Given the description of an element on the screen output the (x, y) to click on. 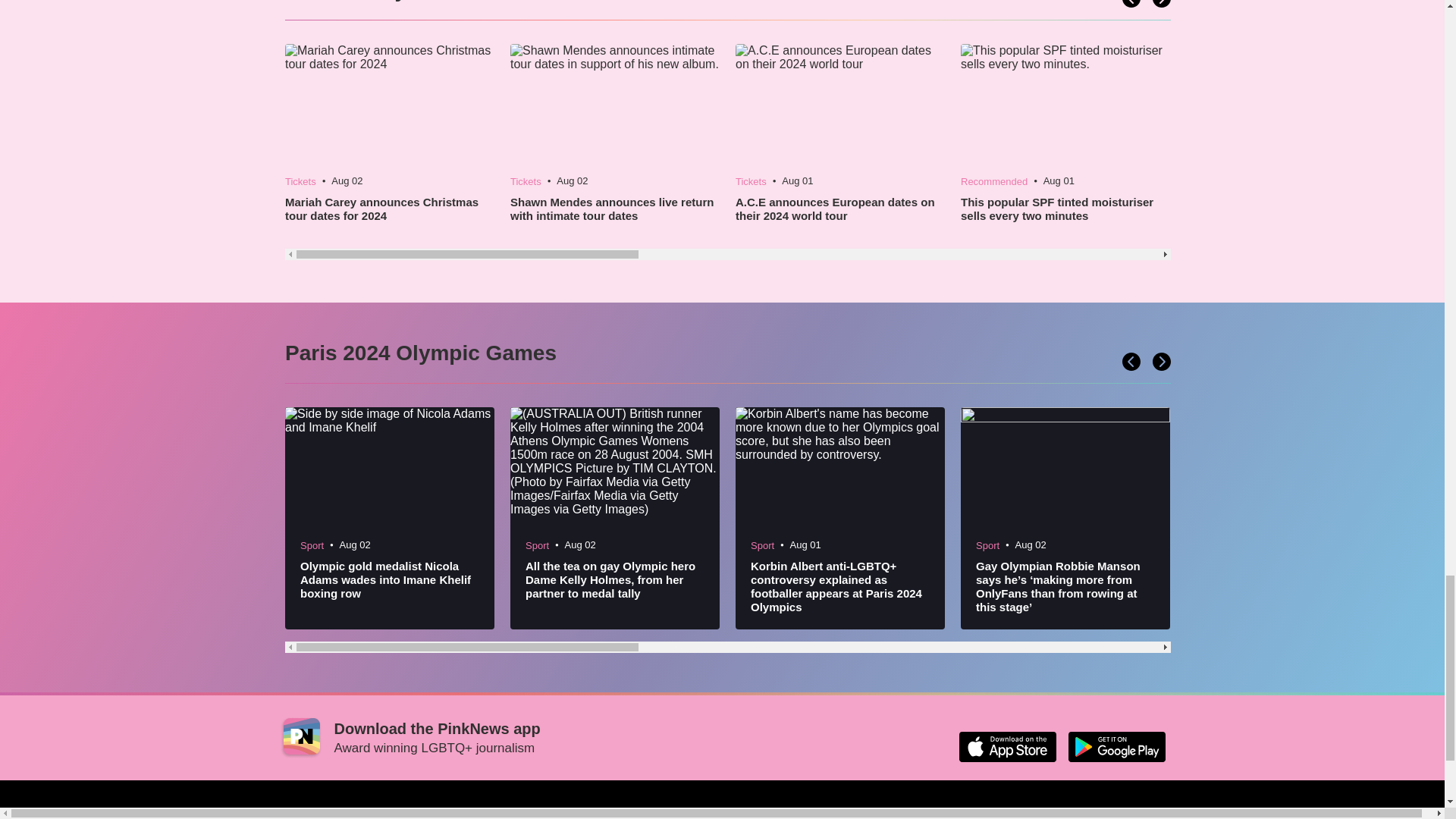
Download the PinkNews app on Google Play (1115, 747)
Download the PinkNews app on the Apple App Store (1006, 747)
